Given the description of an element on the screen output the (x, y) to click on. 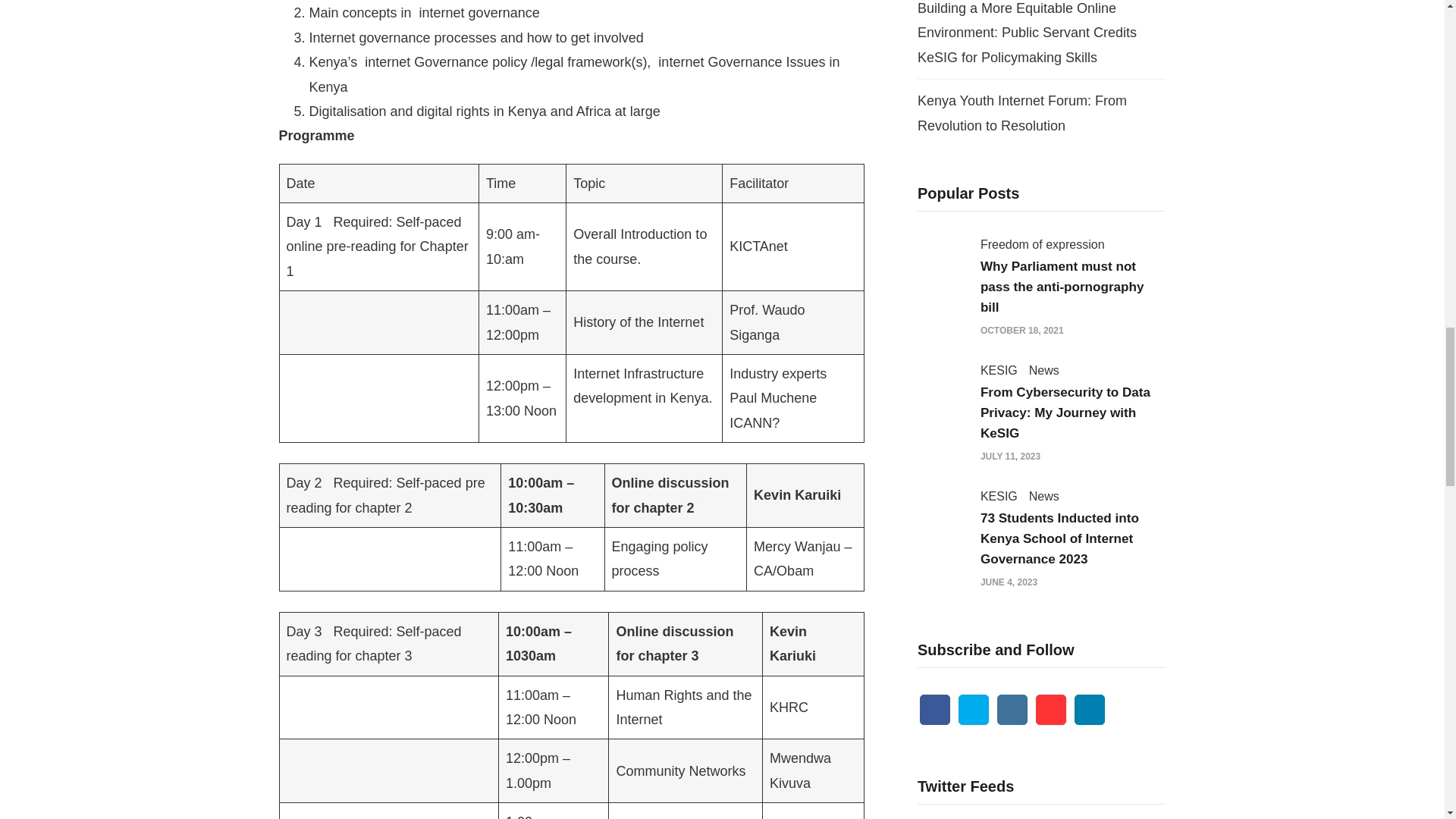
twitter (973, 709)
facebook (935, 709)
linkedin (1089, 709)
youtube-square (1050, 709)
instagram (1012, 709)
